Given the description of an element on the screen output the (x, y) to click on. 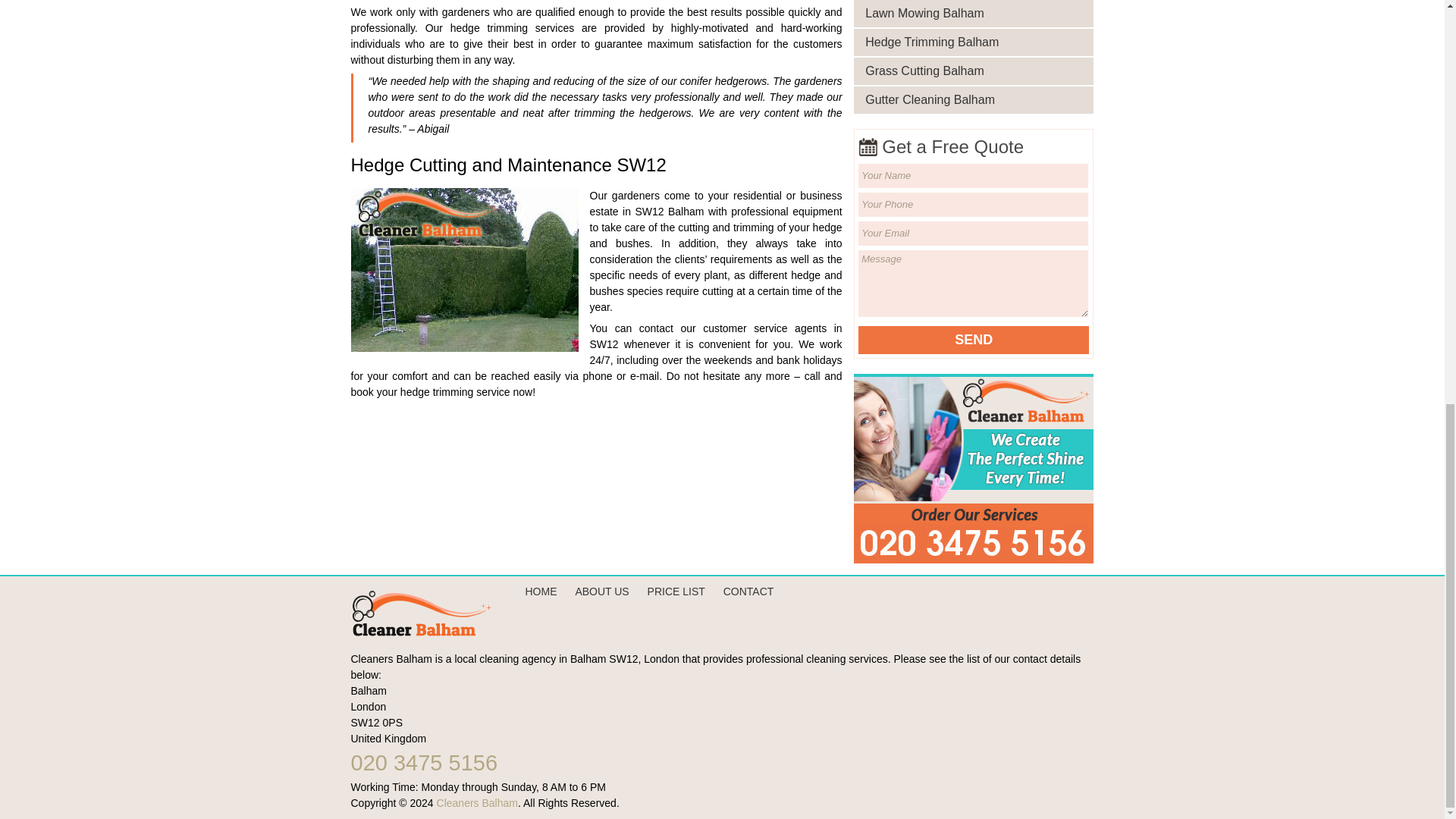
Send (974, 339)
Send (974, 339)
Lawn Mowing Balham (978, 13)
ABOUT US (601, 591)
020 3475 5156 (423, 762)
Gutter Cleaning Balham (978, 99)
CONTACT (748, 591)
Hedge Trimming Balham (978, 42)
Cleaners Balham (477, 802)
PRICE LIST (675, 591)
